Given the description of an element on the screen output the (x, y) to click on. 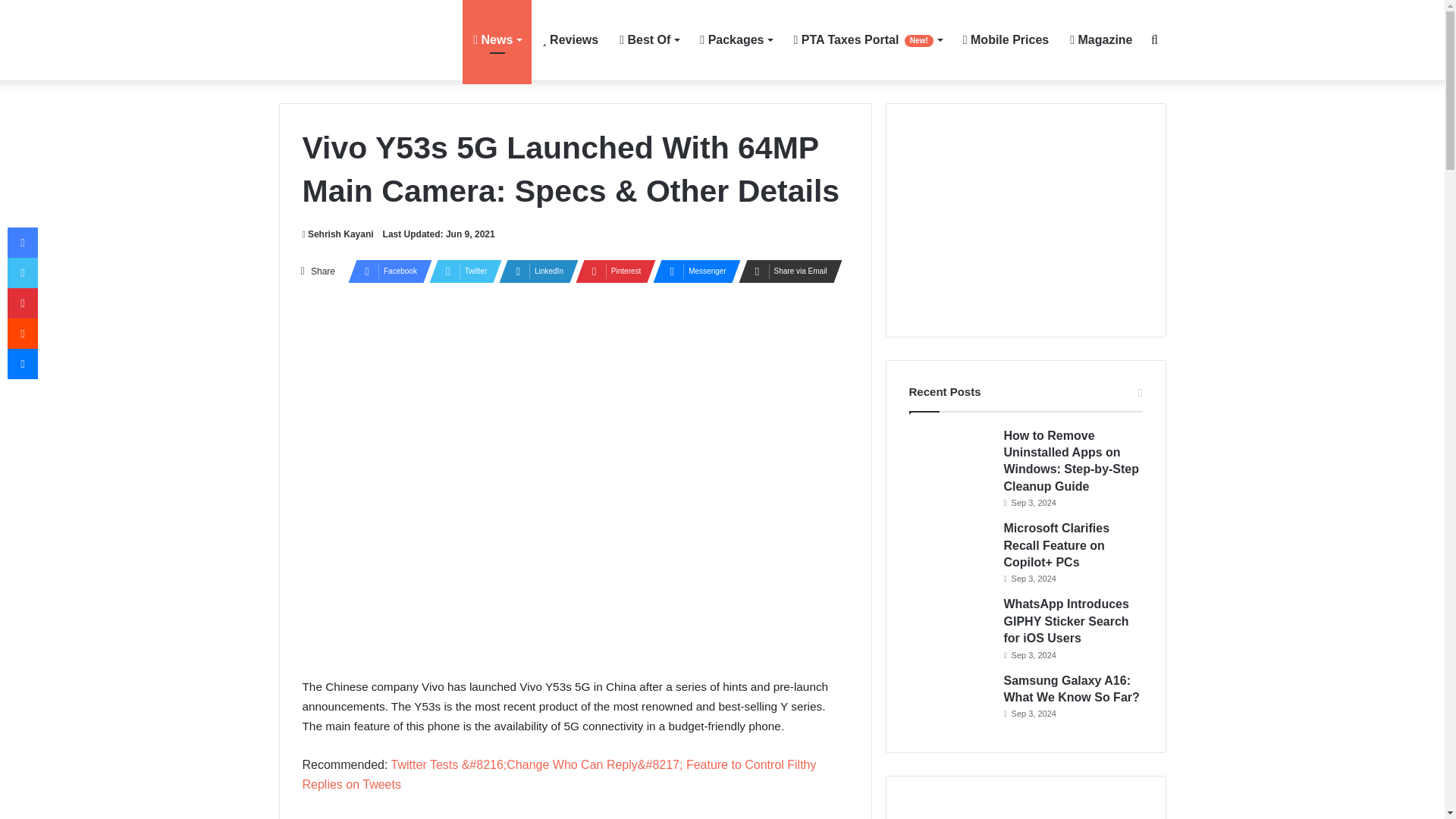
Messenger (692, 271)
PTA Taxes Portal New! (867, 40)
Pinterest (610, 271)
Packages (735, 40)
Reviews (569, 40)
Share via Email (785, 271)
Best Of (648, 40)
Facebook (385, 271)
Sehrish Kayani (336, 234)
LinkedIn (534, 271)
